Given the description of an element on the screen output the (x, y) to click on. 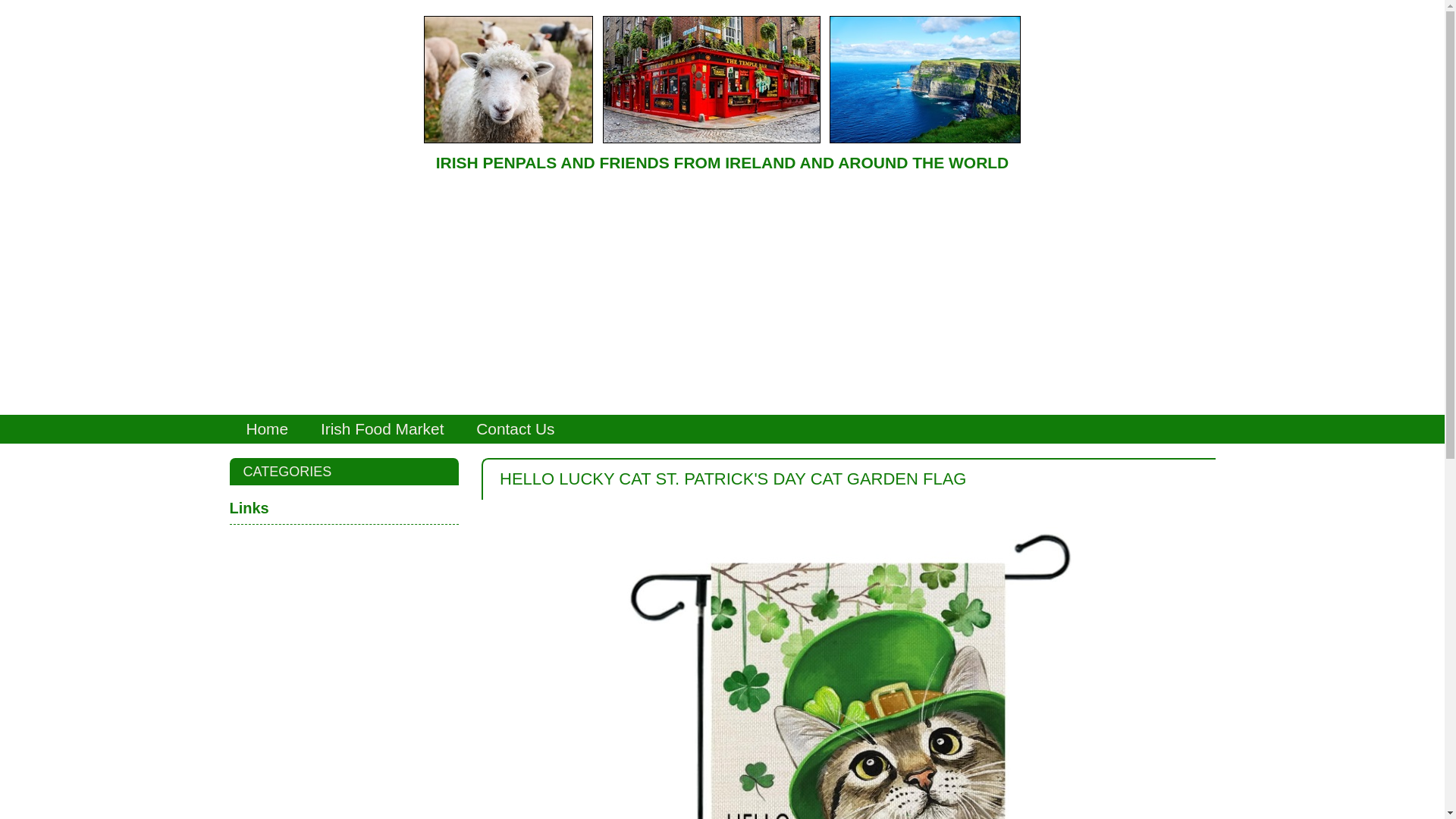
Irish Food Market (382, 428)
Contact Us (515, 428)
Sheep Lambs Image by 12019 from Pixabay (507, 79)
Hello Lucky Cat Saint Patrick's Day Garden Flag (848, 673)
Home (267, 428)
Links (343, 508)
Cliffs of Moher Image by NakNakNak from Pixabay (924, 79)
